Given the description of an element on the screen output the (x, y) to click on. 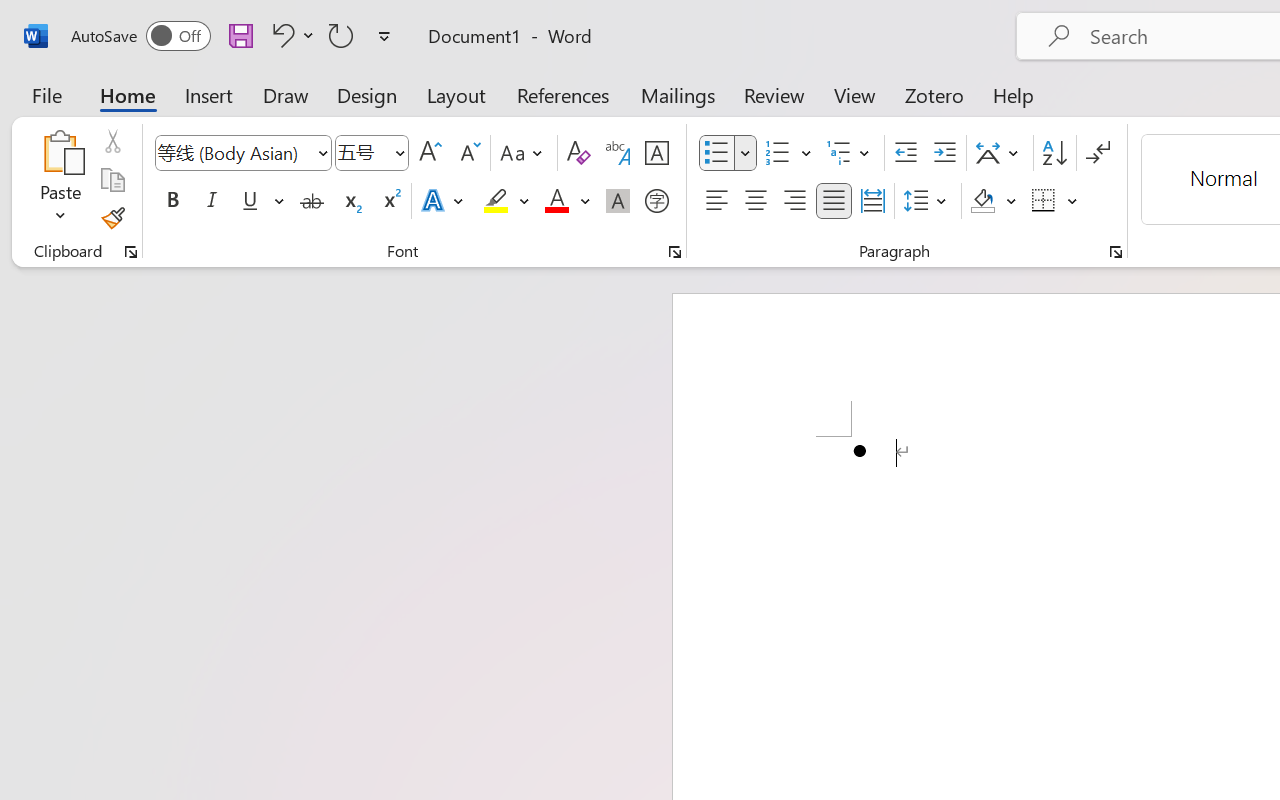
Undo Bullet Default (290, 35)
